Given the description of an element on the screen output the (x, y) to click on. 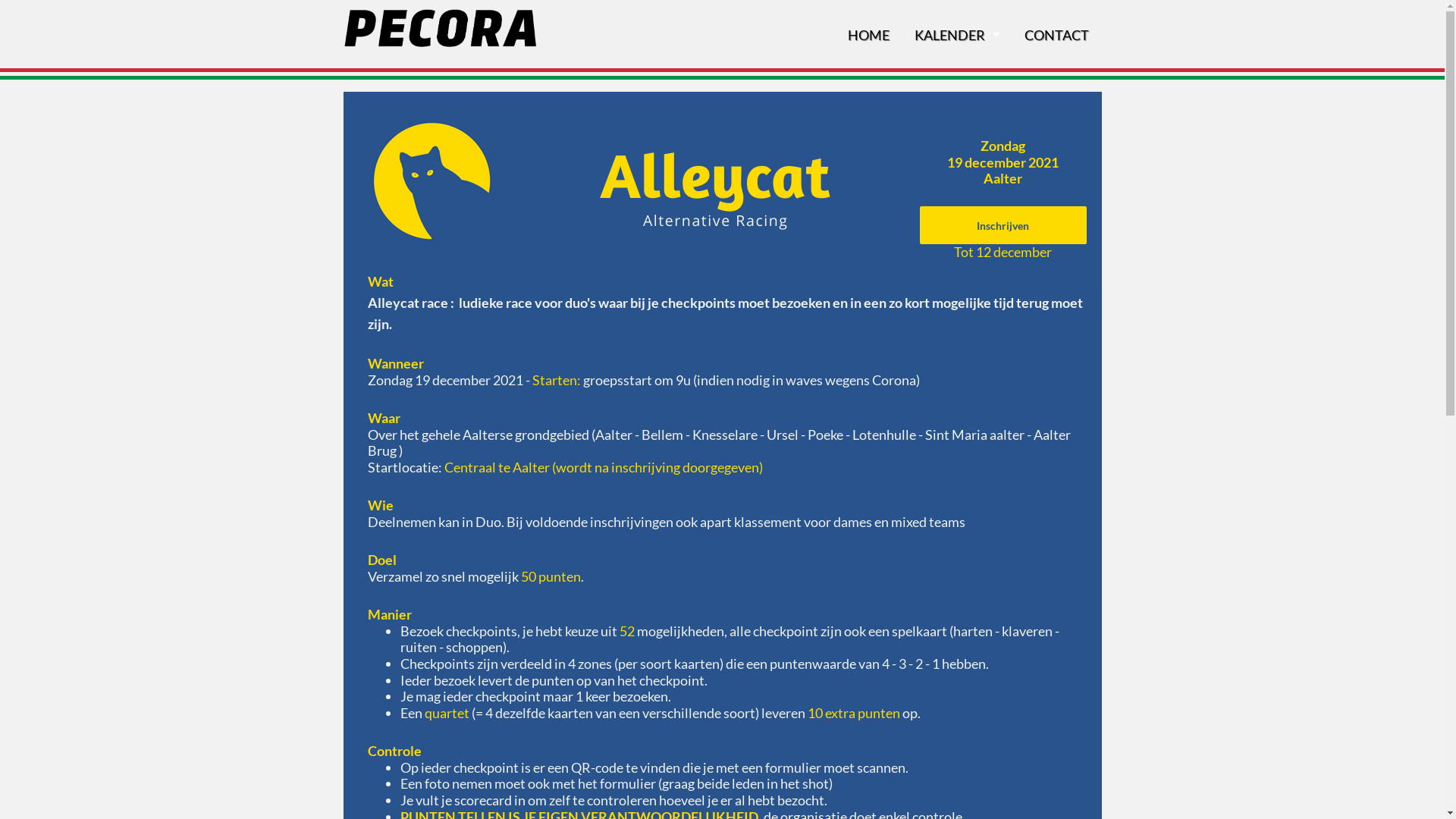
HOME Element type: text (868, 34)
KALENDER Element type: text (957, 34)
CONTACT Element type: text (1056, 34)
Inschrijven Element type: text (1002, 225)
